Given the description of an element on the screen output the (x, y) to click on. 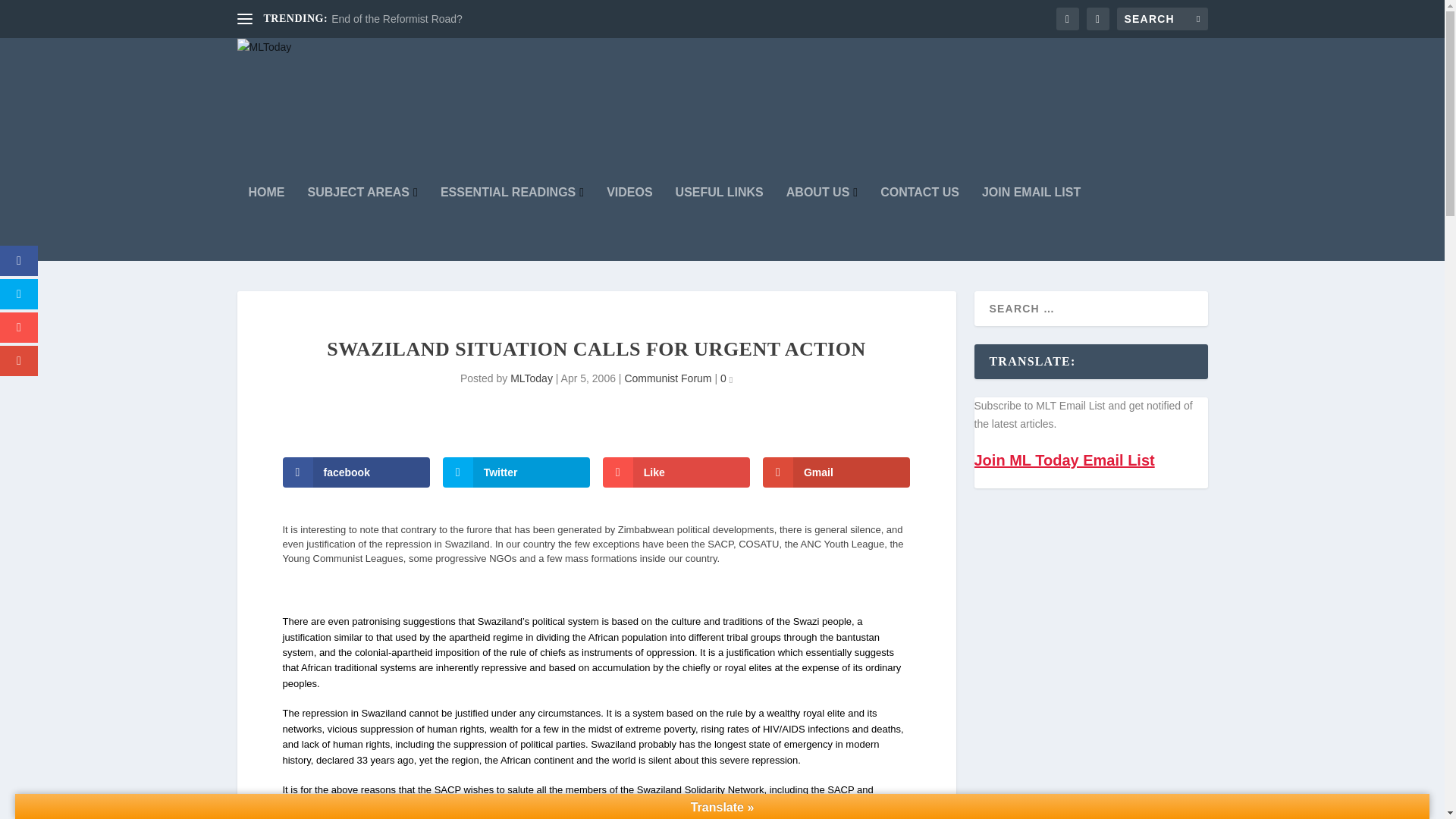
Search for: (1161, 18)
SUBJECT AREAS (362, 223)
End of the Reformist Road? (397, 19)
Posts by MLToday (532, 378)
USEFUL LINKS (718, 223)
ABOUT US (821, 223)
ESSENTIAL READINGS (512, 223)
